Given the description of an element on the screen output the (x, y) to click on. 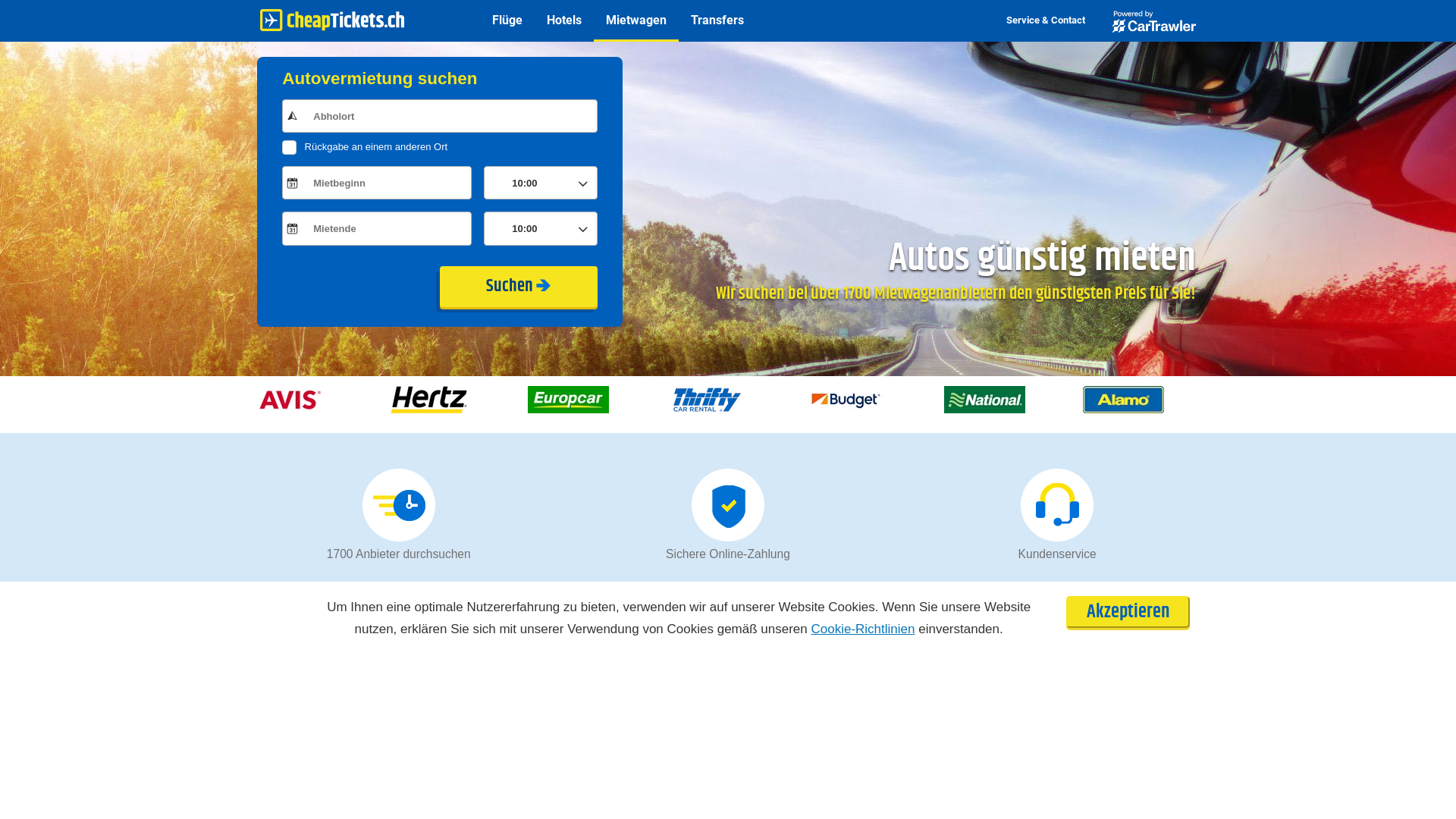
Mietwagen Element type: text (635, 20)
Akzeptieren Element type: text (1127, 611)
Transfers Element type: text (717, 20)
Cookie-Richtlinien Element type: text (862, 628)
Service & Contact Element type: text (1045, 20)
Suchen Element type: text (518, 286)
Hotels Element type: text (563, 20)
